Given the description of an element on the screen output the (x, y) to click on. 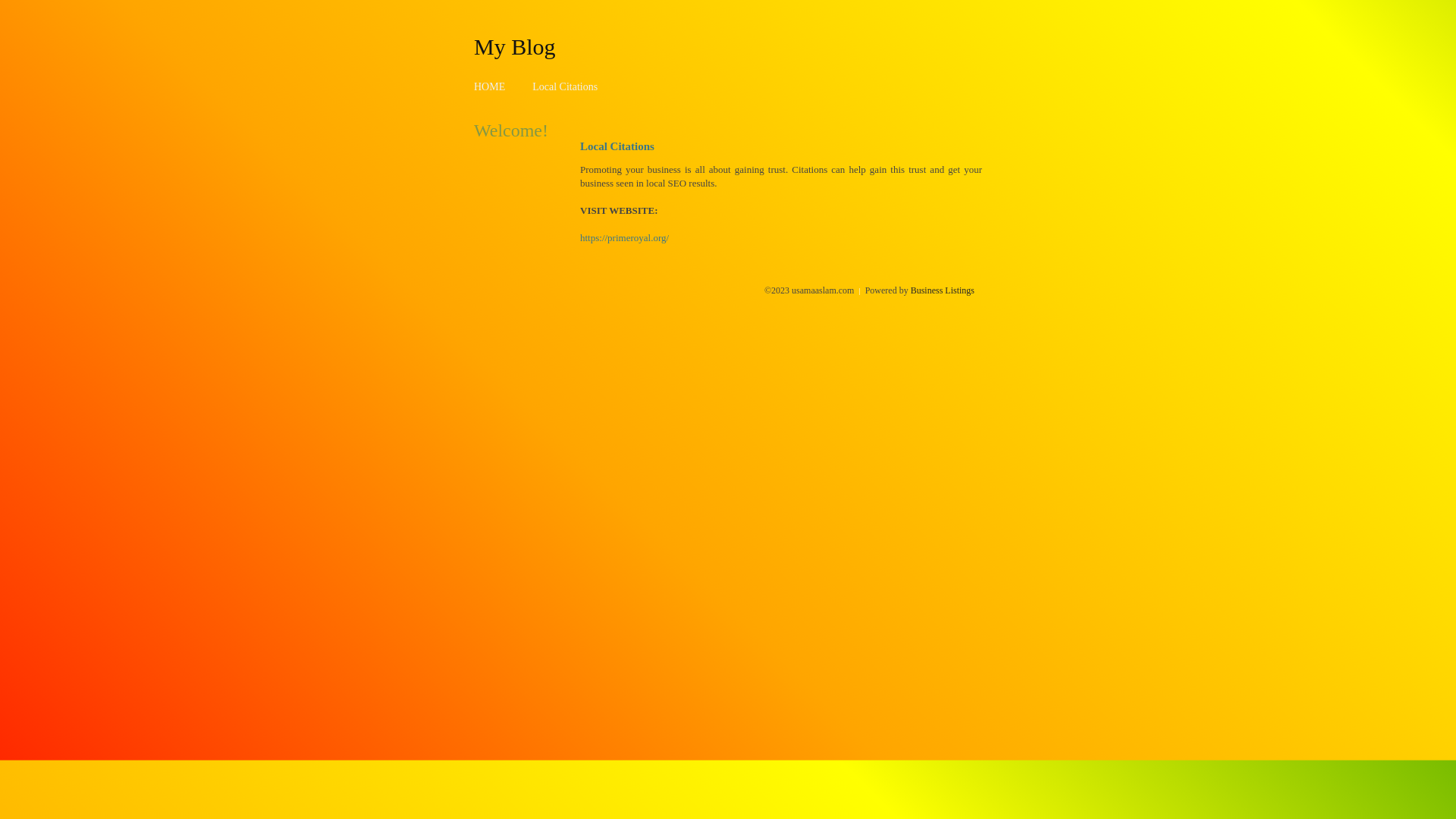
Business Listings Element type: text (942, 290)
My Blog Element type: text (514, 46)
https://primeroyal.org/ Element type: text (624, 237)
HOME Element type: text (489, 86)
Local Citations Element type: text (564, 86)
